Given the description of an element on the screen output the (x, y) to click on. 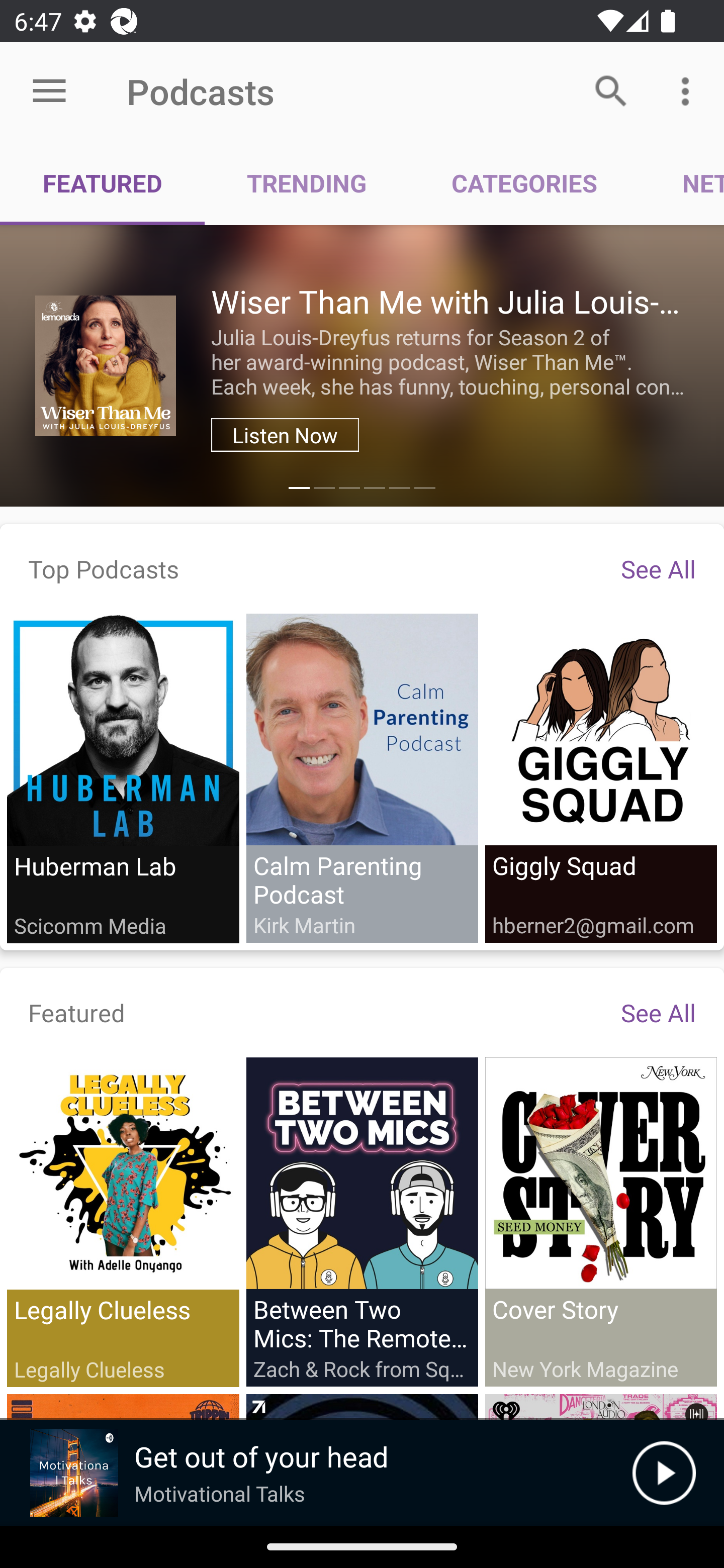
Open menu (49, 91)
Search (611, 90)
More options (688, 90)
FEATURED (102, 183)
TRENDING (306, 183)
CATEGORIES (524, 183)
Top Podcasts (103, 567)
See All (658, 567)
Huberman Lab Scicomm Media (123, 778)
Calm Parenting Podcast Kirk Martin (361, 777)
Giggly Squad hberner2@gmail.com (600, 777)
Featured (76, 1011)
See All (658, 1011)
Legally Clueless (123, 1221)
Cover Story New York Magazine (600, 1221)
Picture Get out of your head Motivational Talks (316, 1472)
Play (663, 1472)
